Given the description of an element on the screen output the (x, y) to click on. 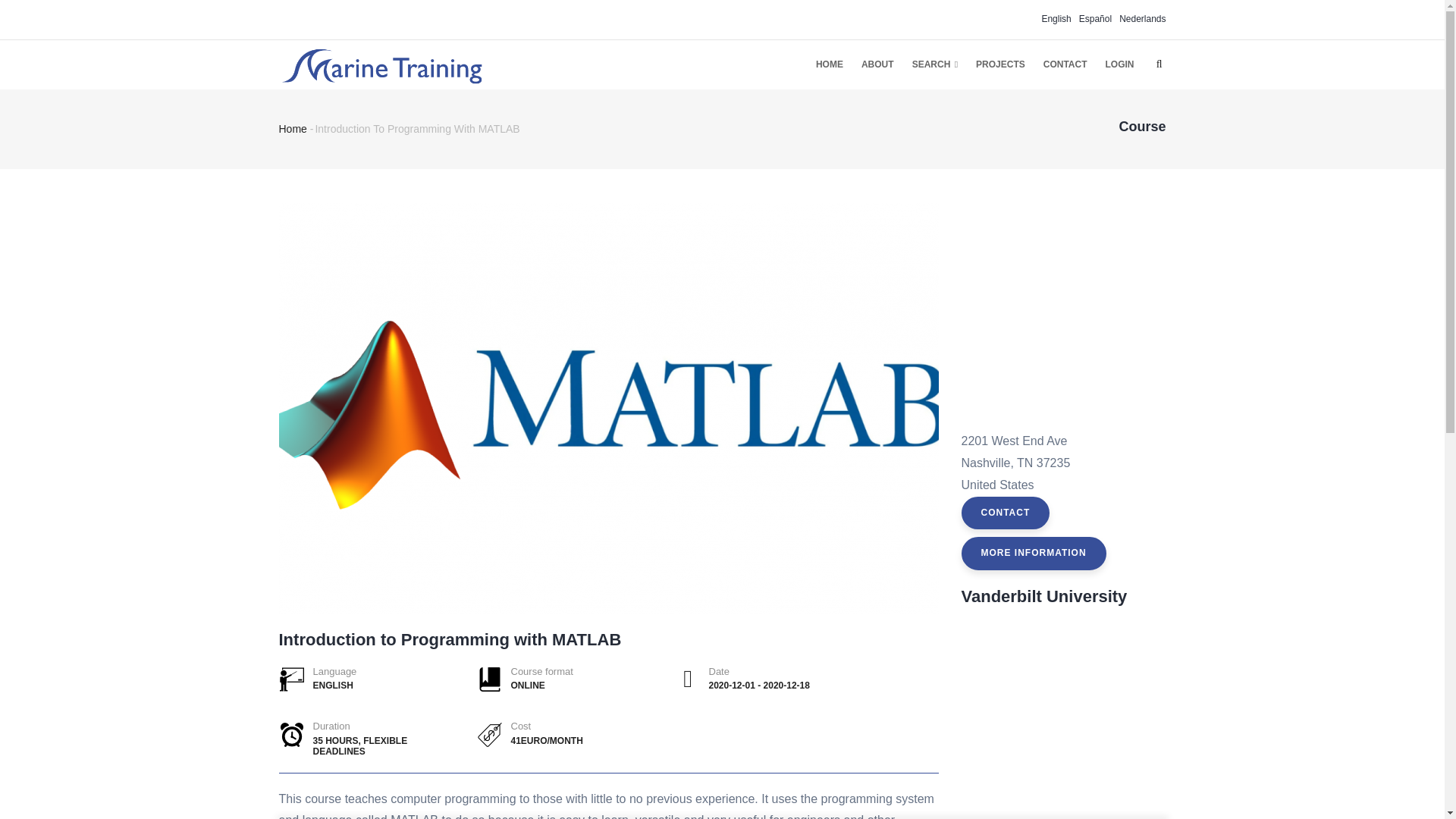
CONTACT (1064, 65)
ABOUT (876, 65)
CONTACT (1004, 512)
MORE INFORMATION (1033, 553)
Home (293, 128)
English (1055, 18)
HOME (828, 65)
SEARCH (934, 65)
PROJECTS (999, 65)
Nederlands (1142, 18)
Vanderbilt University (1043, 596)
LOGIN (1119, 65)
Home (381, 62)
